Given the description of an element on the screen output the (x, y) to click on. 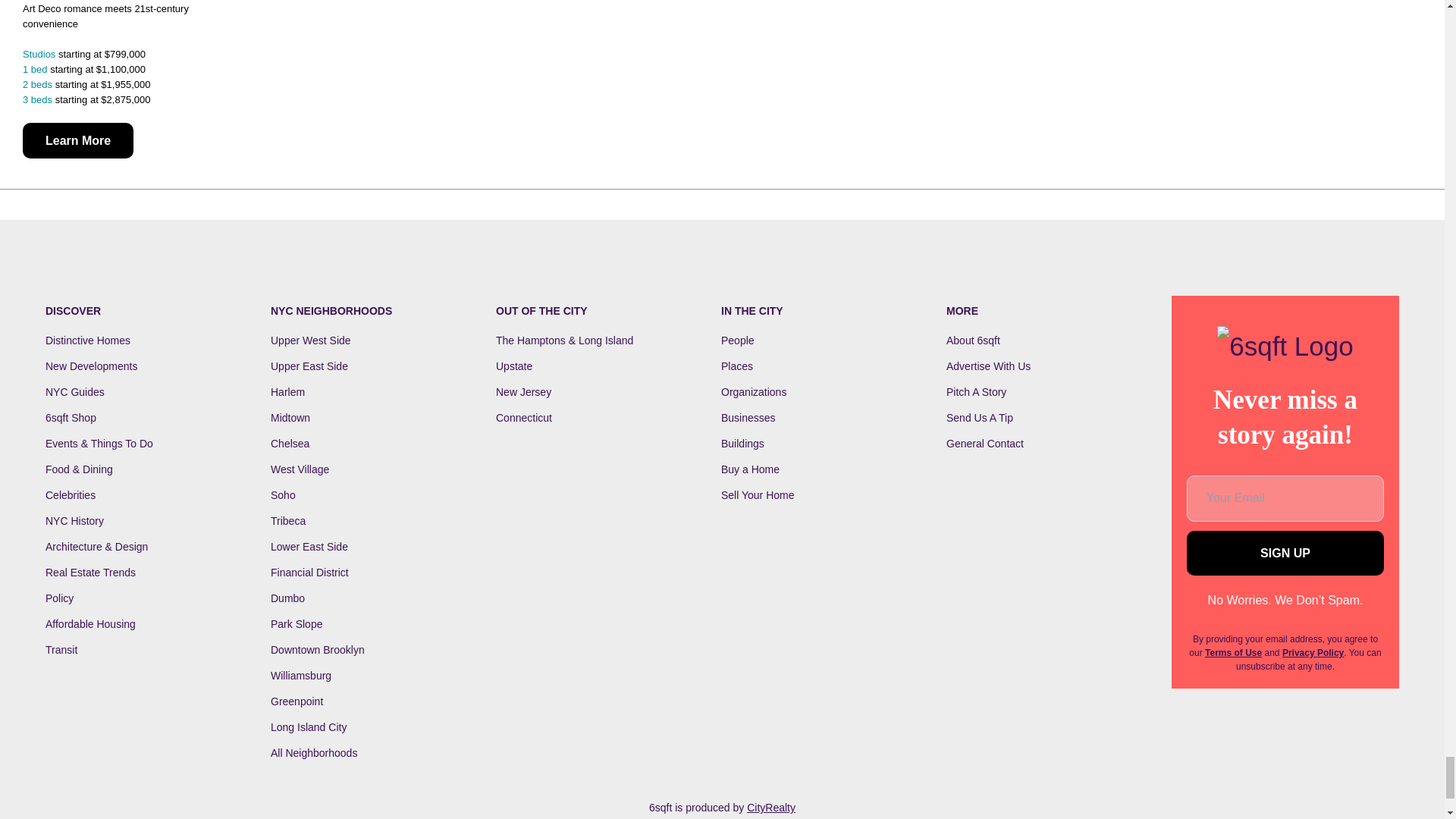
SIGN UP (1285, 552)
